Given the description of an element on the screen output the (x, y) to click on. 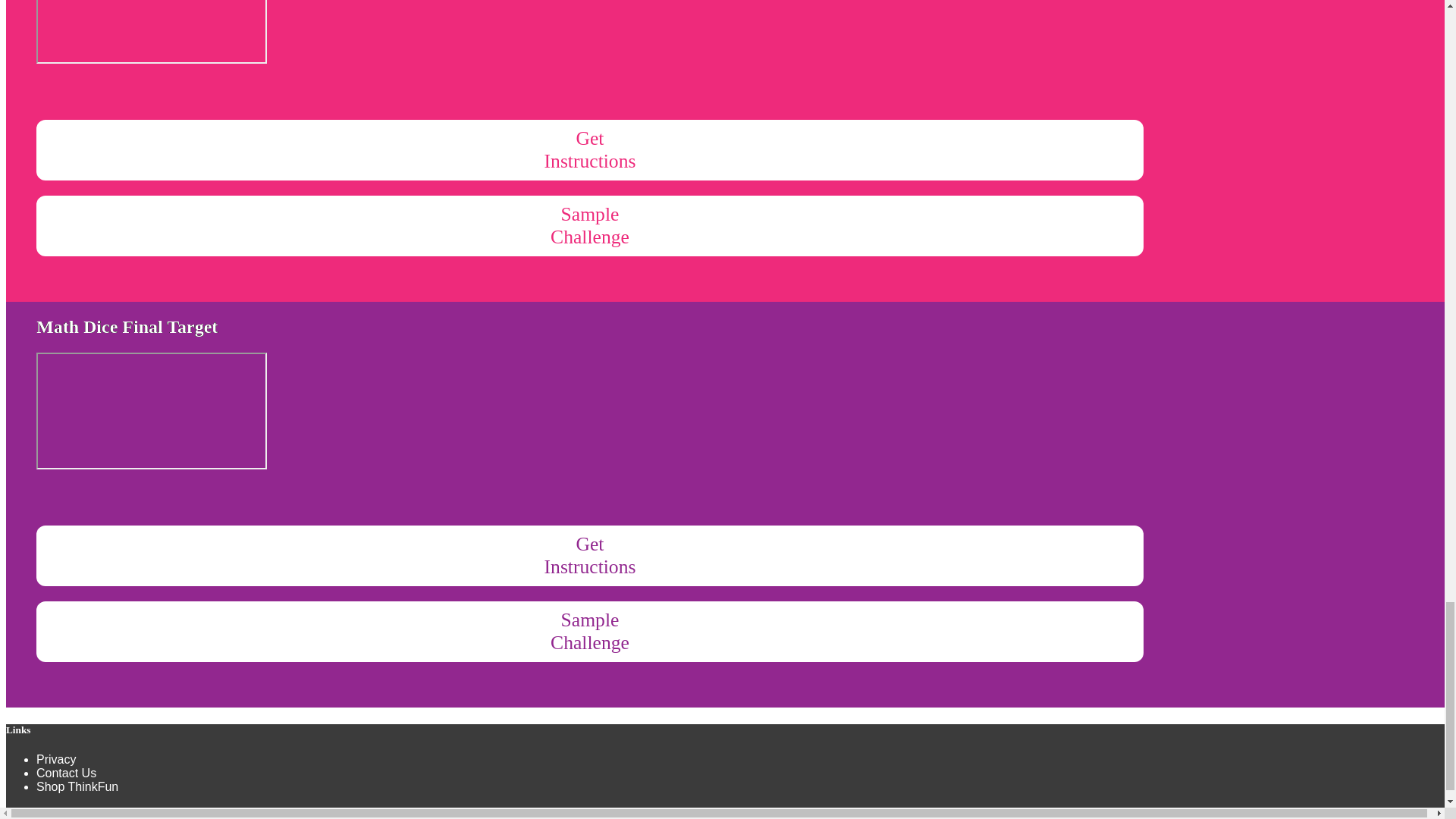
Contact Us (66, 772)
Privacy (589, 555)
Shop ThinkFun (589, 225)
